Given the description of an element on the screen output the (x, y) to click on. 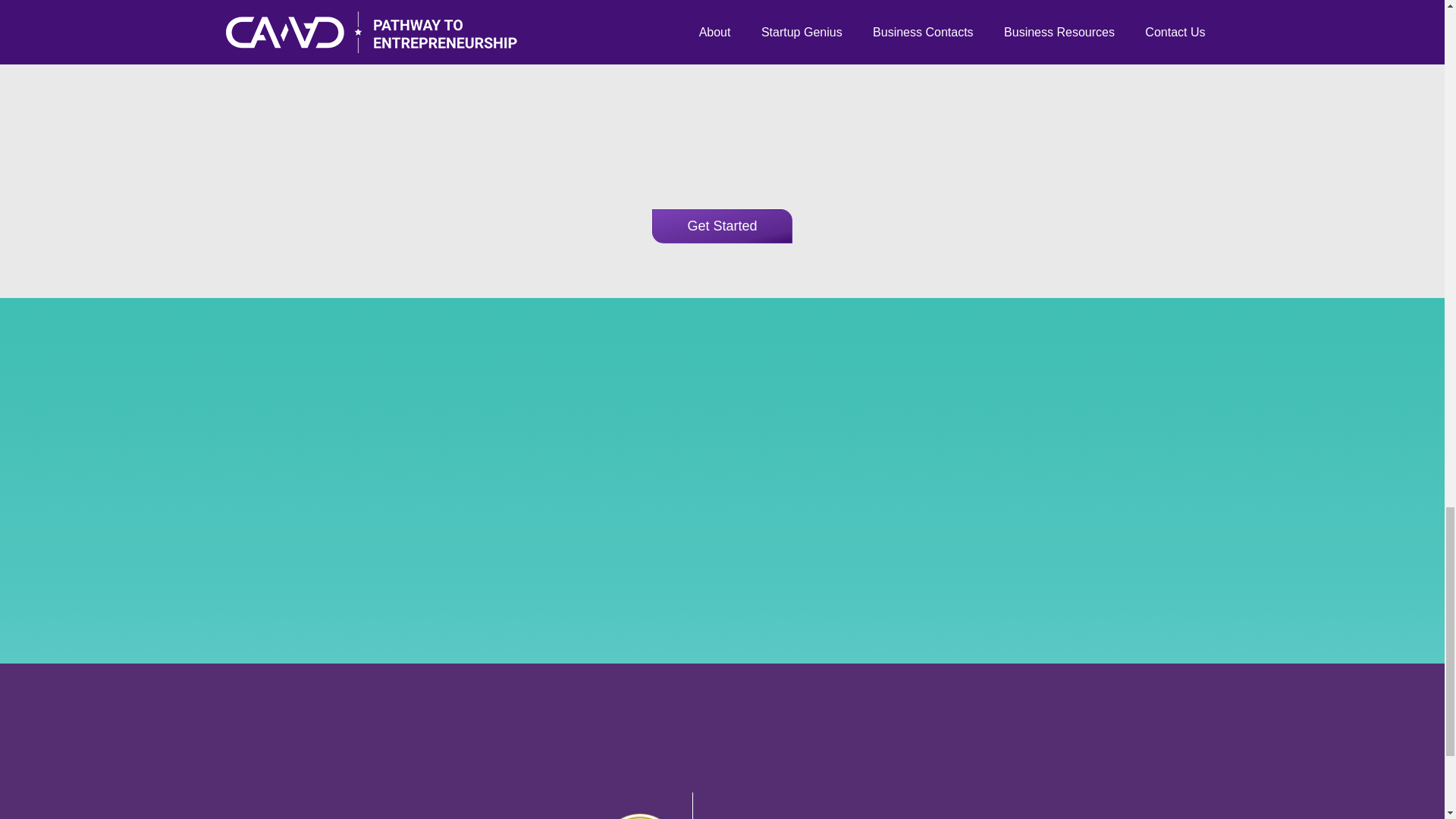
Get Started (722, 226)
wpforms-submit (721, 770)
NACo 2023 ACHIEVEMENT AWARD WINNER (639, 815)
